Given the description of an element on the screen output the (x, y) to click on. 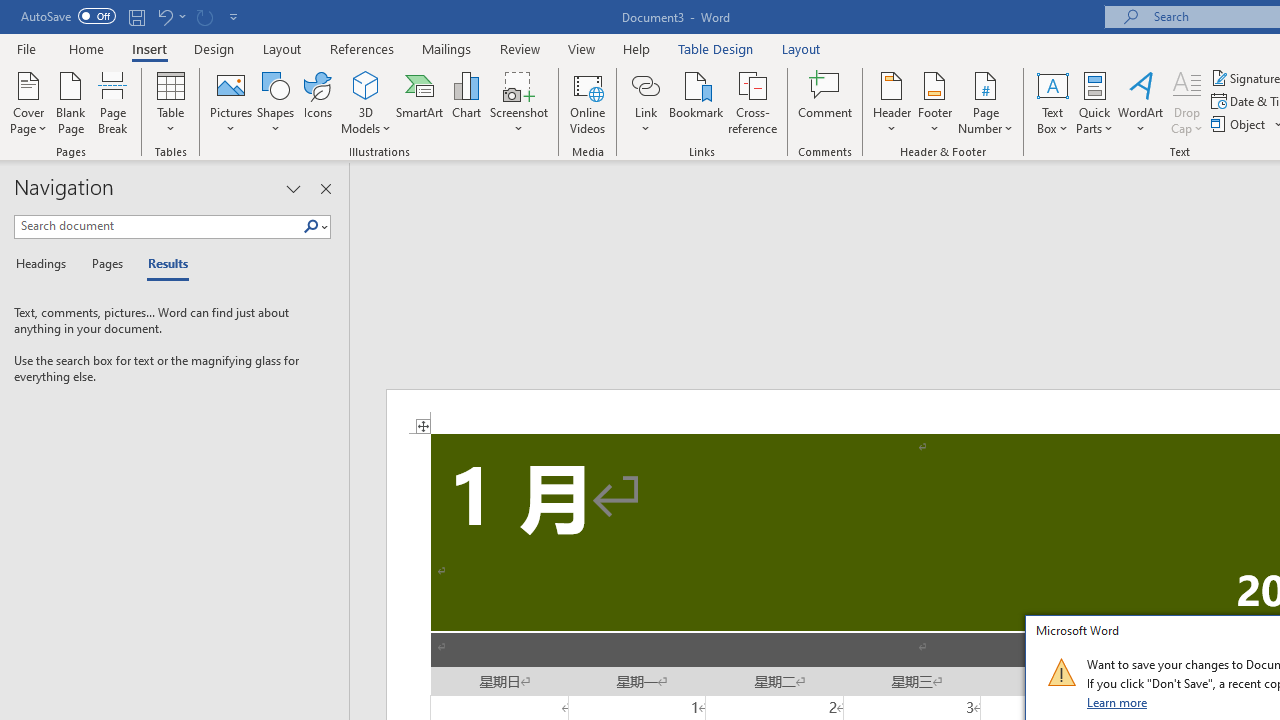
Page Number (986, 102)
Table (170, 102)
Cover Page (28, 102)
Page Break (113, 102)
Text Box (1052, 102)
Chart... (466, 102)
3D Models (366, 84)
Pictures (230, 102)
